Given the description of an element on the screen output the (x, y) to click on. 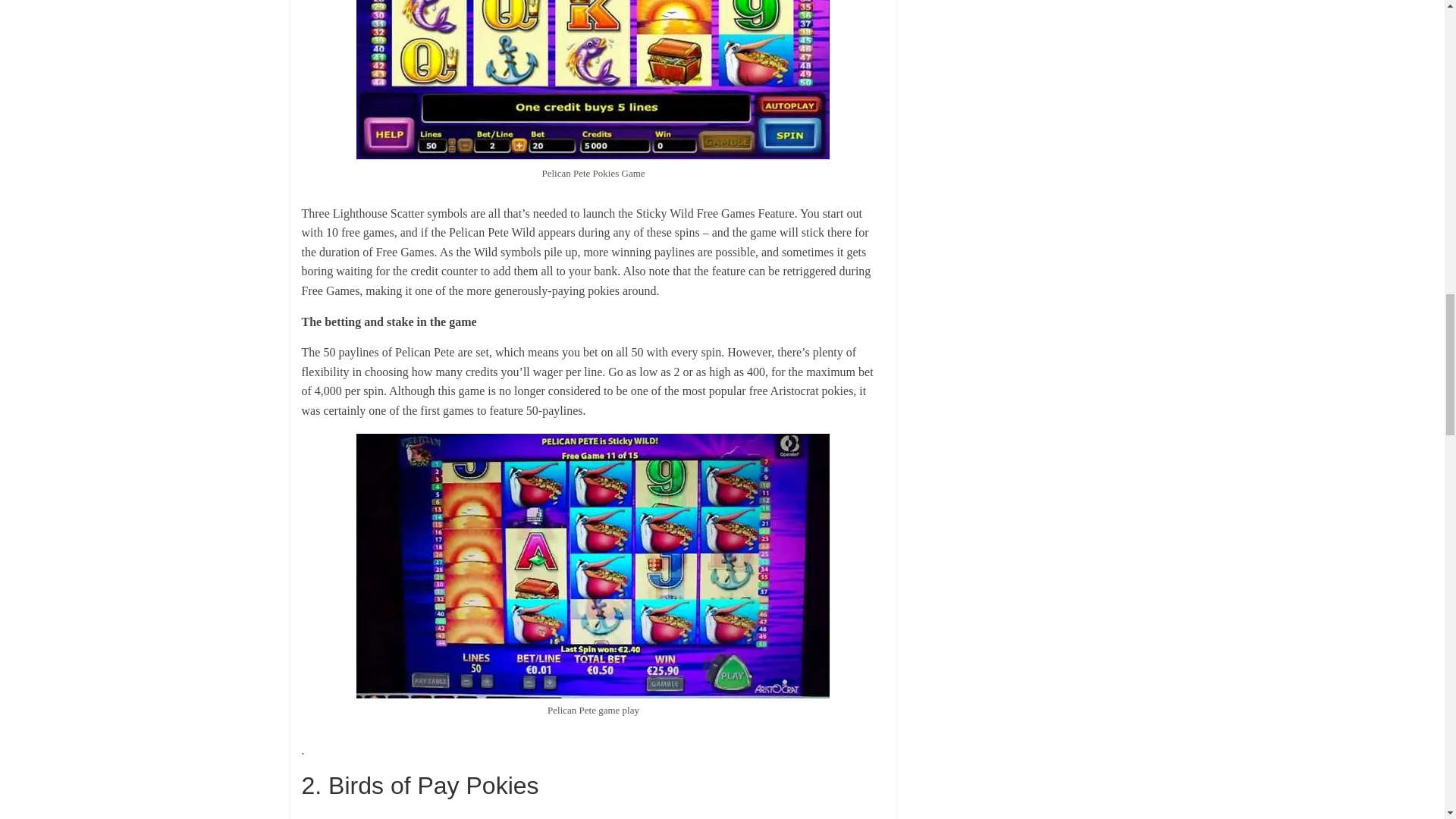
Aristocrat pokies (482, 818)
